Given the description of an element on the screen output the (x, y) to click on. 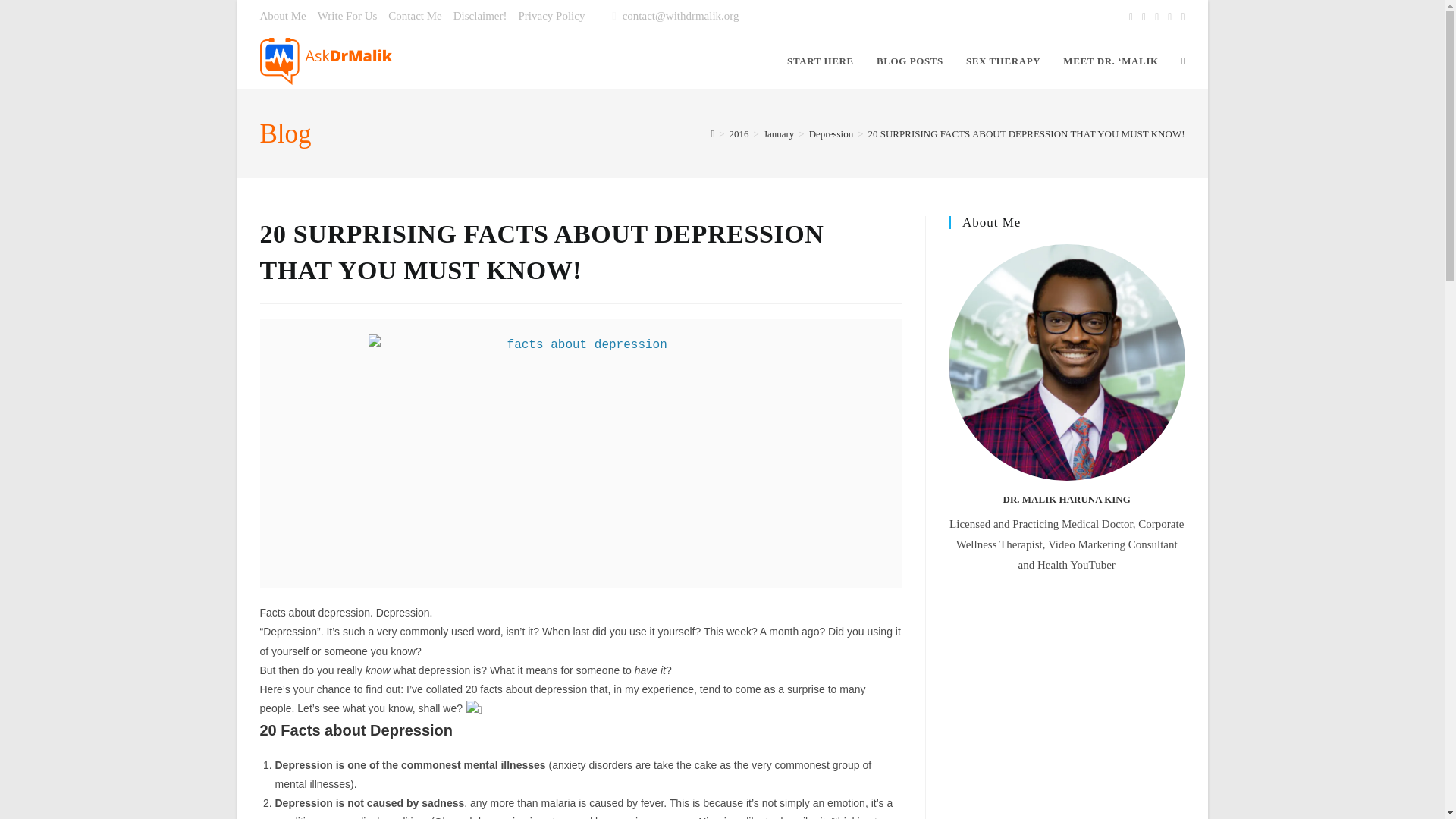
SEX THERAPY (1003, 61)
Disclaimer! (479, 15)
20 SURPRISING FACTS ABOUT DEPRESSION THAT YOU MUST KNOW! (1026, 132)
Privacy Policy (551, 15)
About Me (282, 15)
START HERE (820, 61)
BLOG POSTS (909, 61)
Write For Us (347, 15)
Depression (831, 132)
January (777, 132)
